Given the description of an element on the screen output the (x, y) to click on. 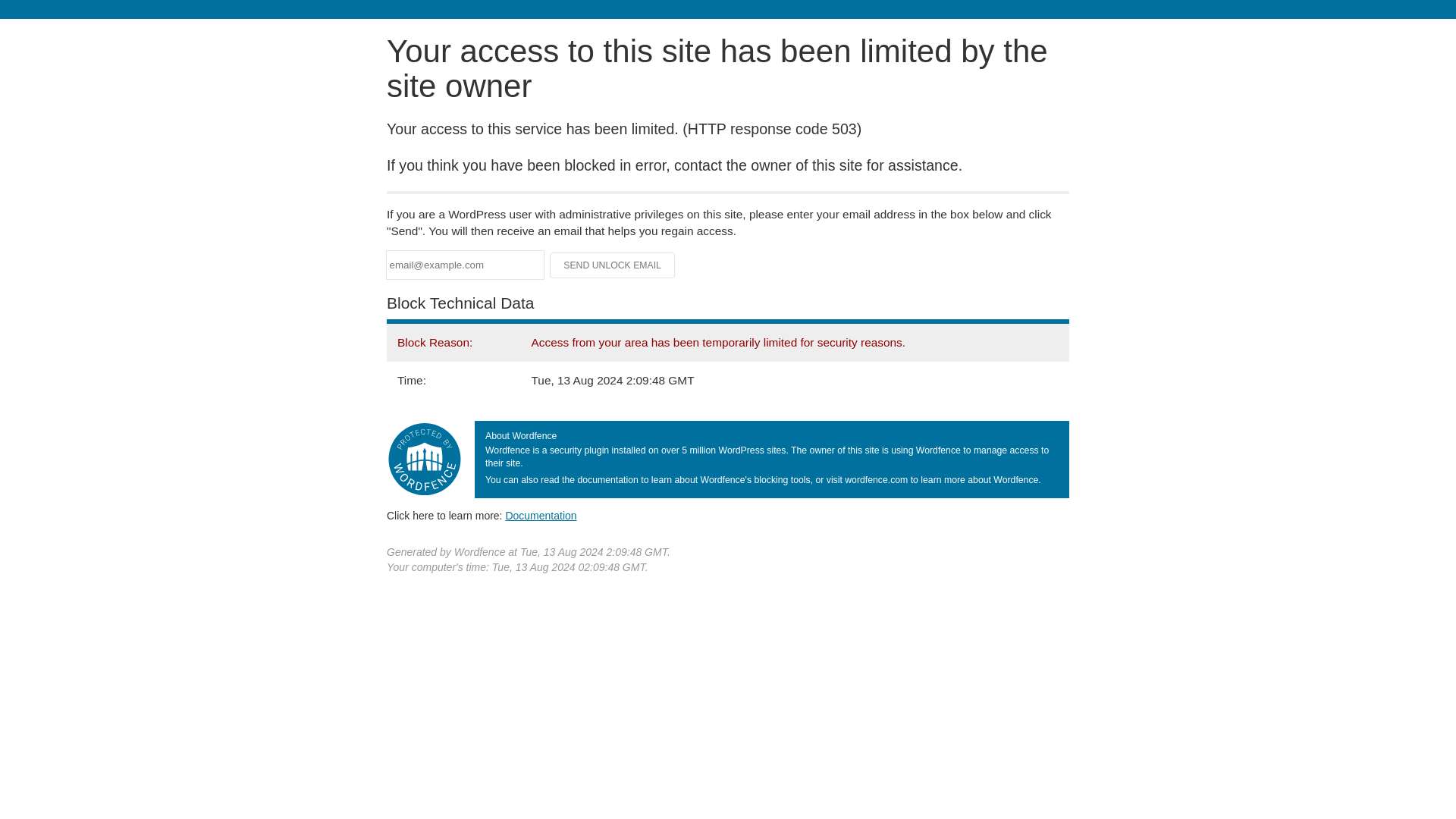
Send Unlock Email (612, 265)
Documentation (540, 515)
Send Unlock Email (612, 265)
